Given the description of an element on the screen output the (x, y) to click on. 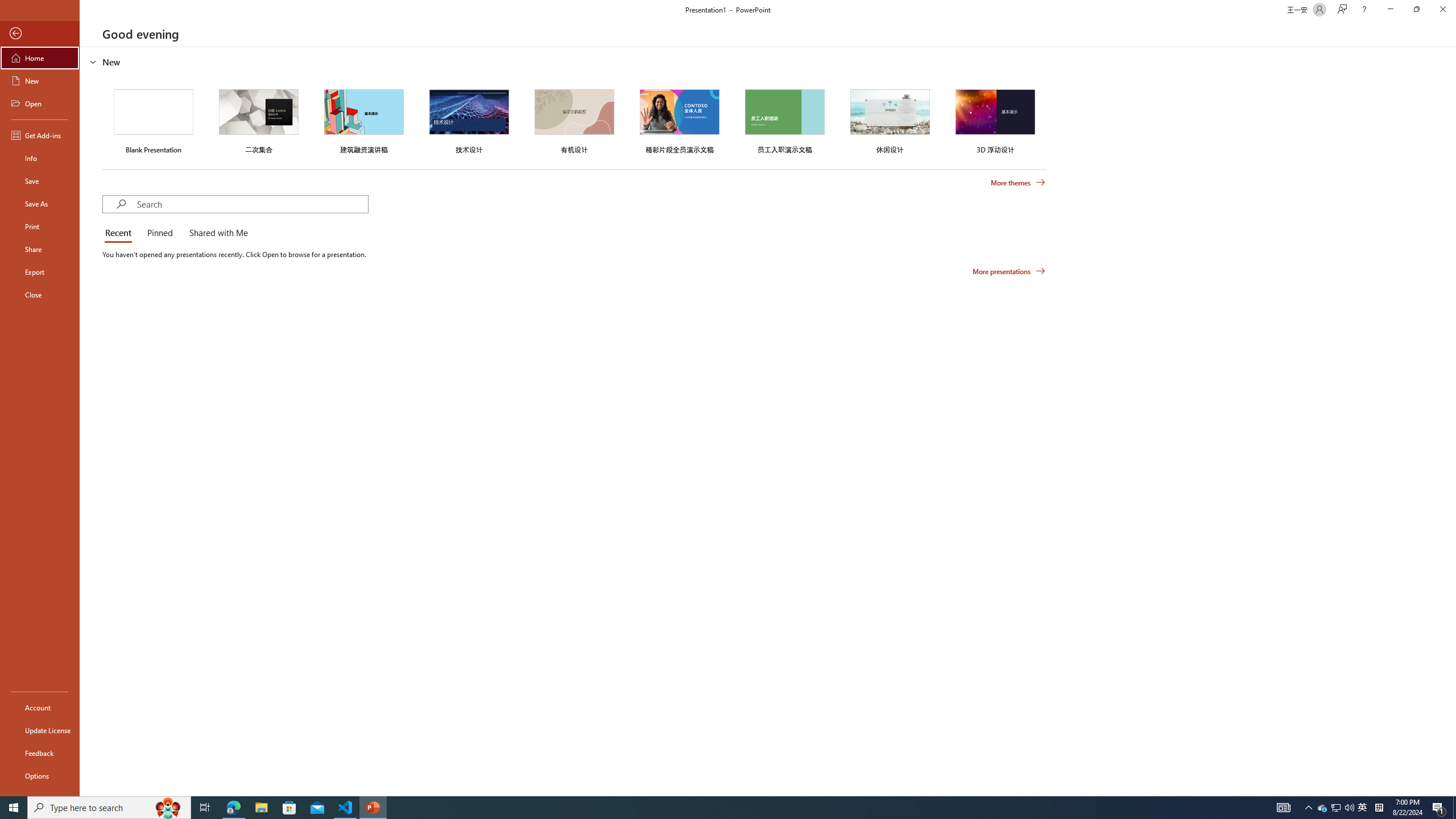
Export (40, 271)
Hide or show region (92, 61)
Back (40, 33)
Info (40, 157)
More themes (1018, 182)
Options (40, 775)
New (40, 80)
